Given the description of an element on the screen output the (x, y) to click on. 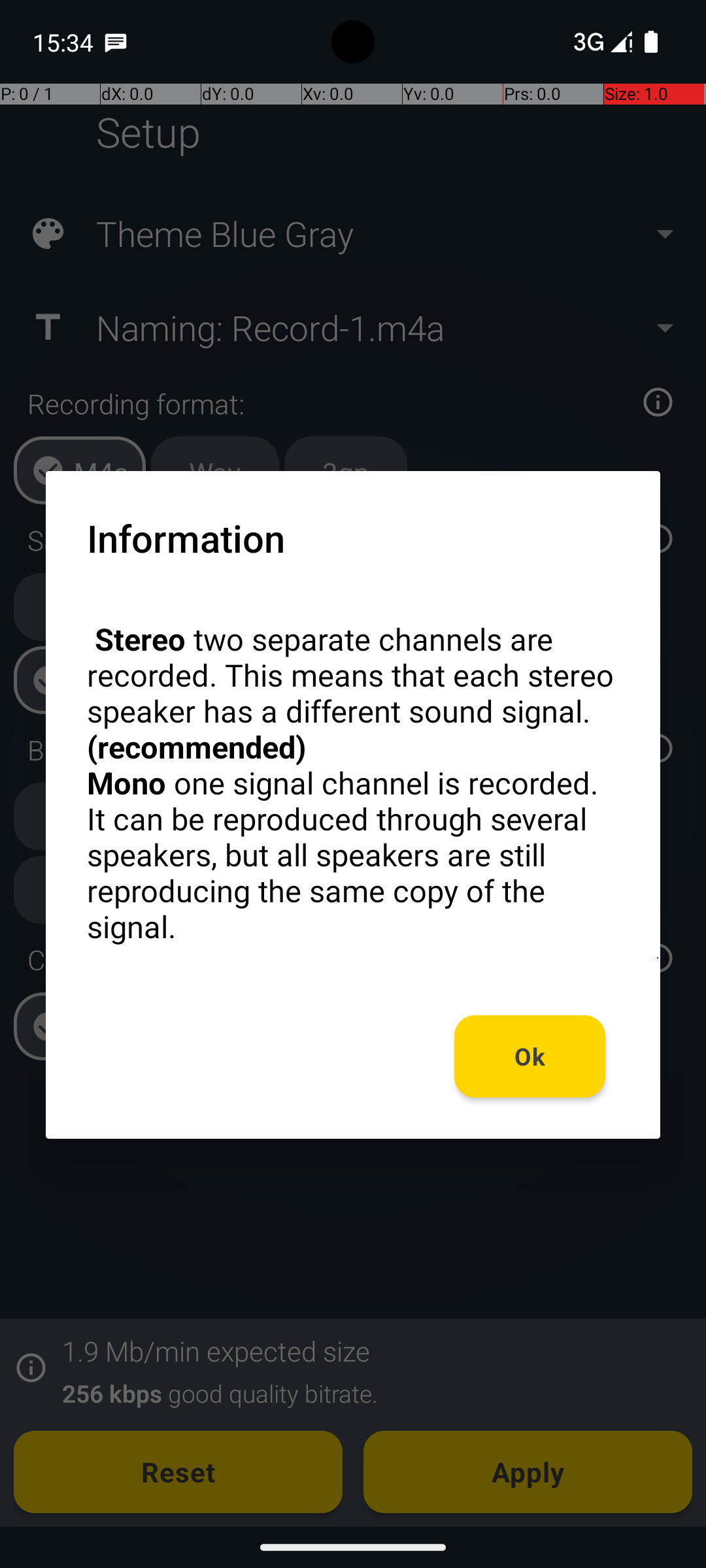
Information Element type: android.widget.TextView (185, 537)
 Stereo two separate channels are recorded. This means that each stereo speaker has a different sound signal. (recommended) 
Mono one signal channel is recorded. It can be reproduced through several speakers, but all speakers are still reproducing the same copy of the signal.  Element type: android.widget.TextView (352, 782)
Ok Element type: android.widget.Button (529, 1056)
